Given the description of an element on the screen output the (x, y) to click on. 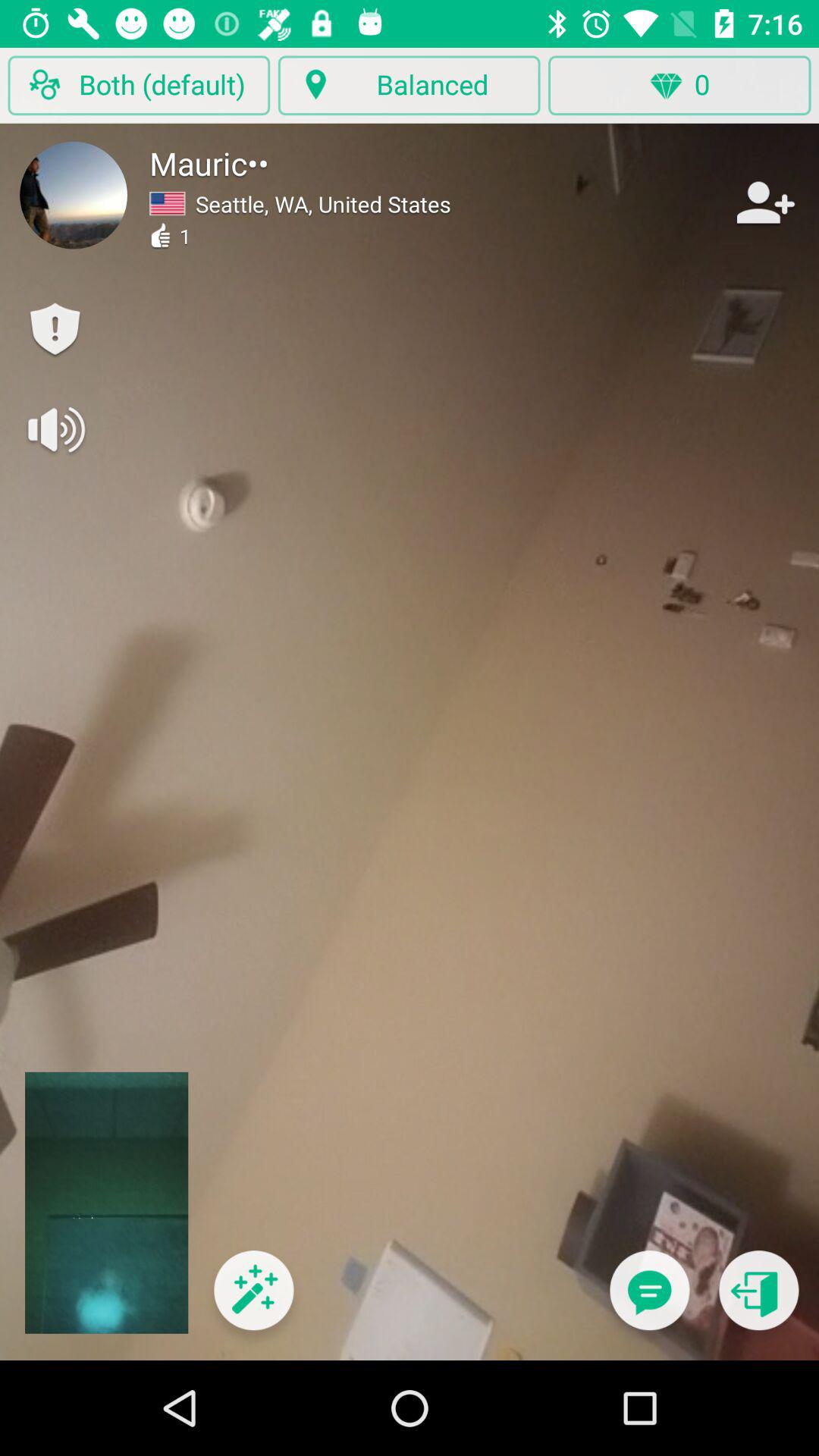
enhance (253, 1300)
